Given the description of an element on the screen output the (x, y) to click on. 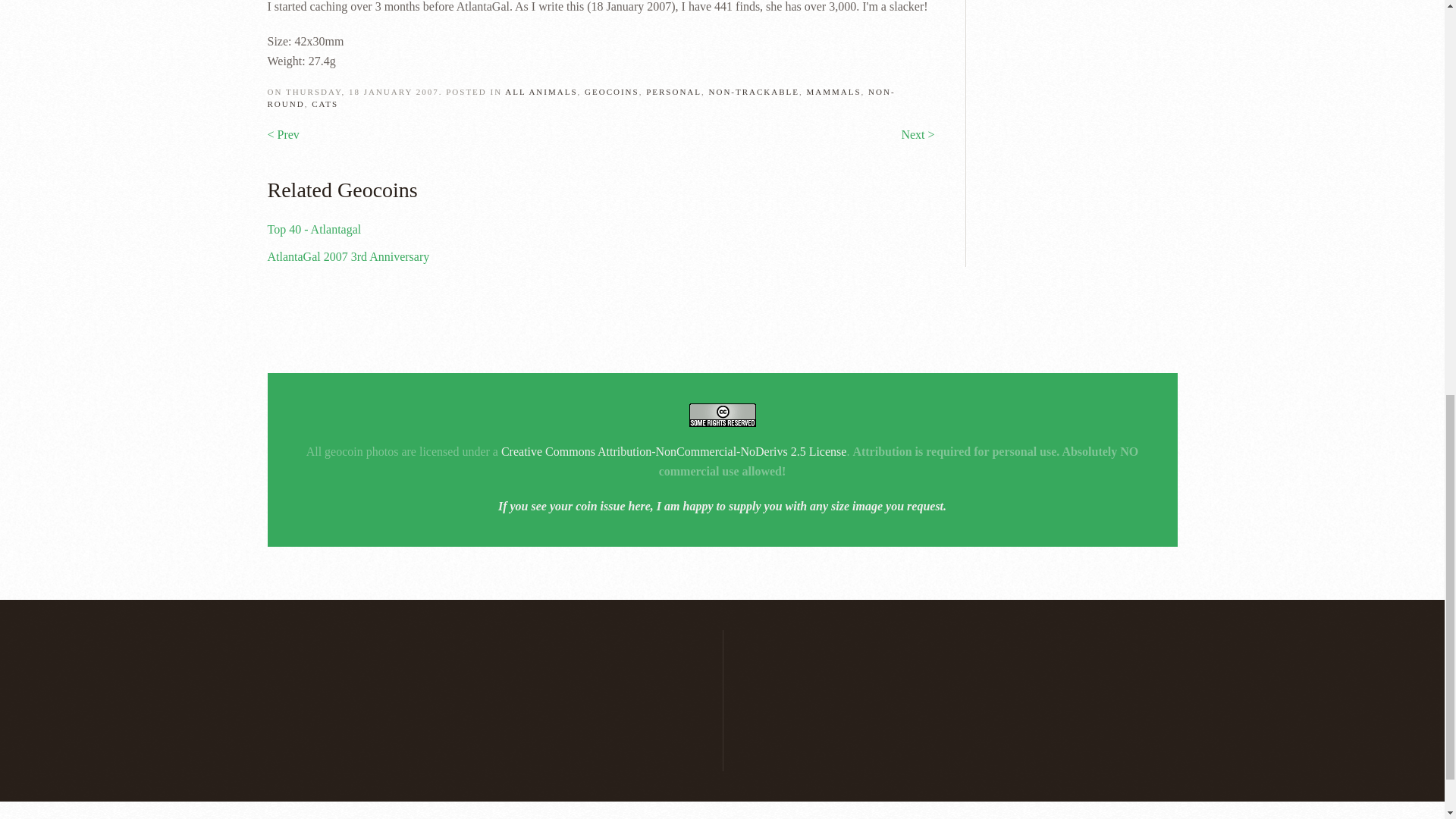
AtlantaGal 2007 3rd Anniversary (347, 256)
Top 40 - Atlantagal (313, 228)
